Given the description of an element on the screen output the (x, y) to click on. 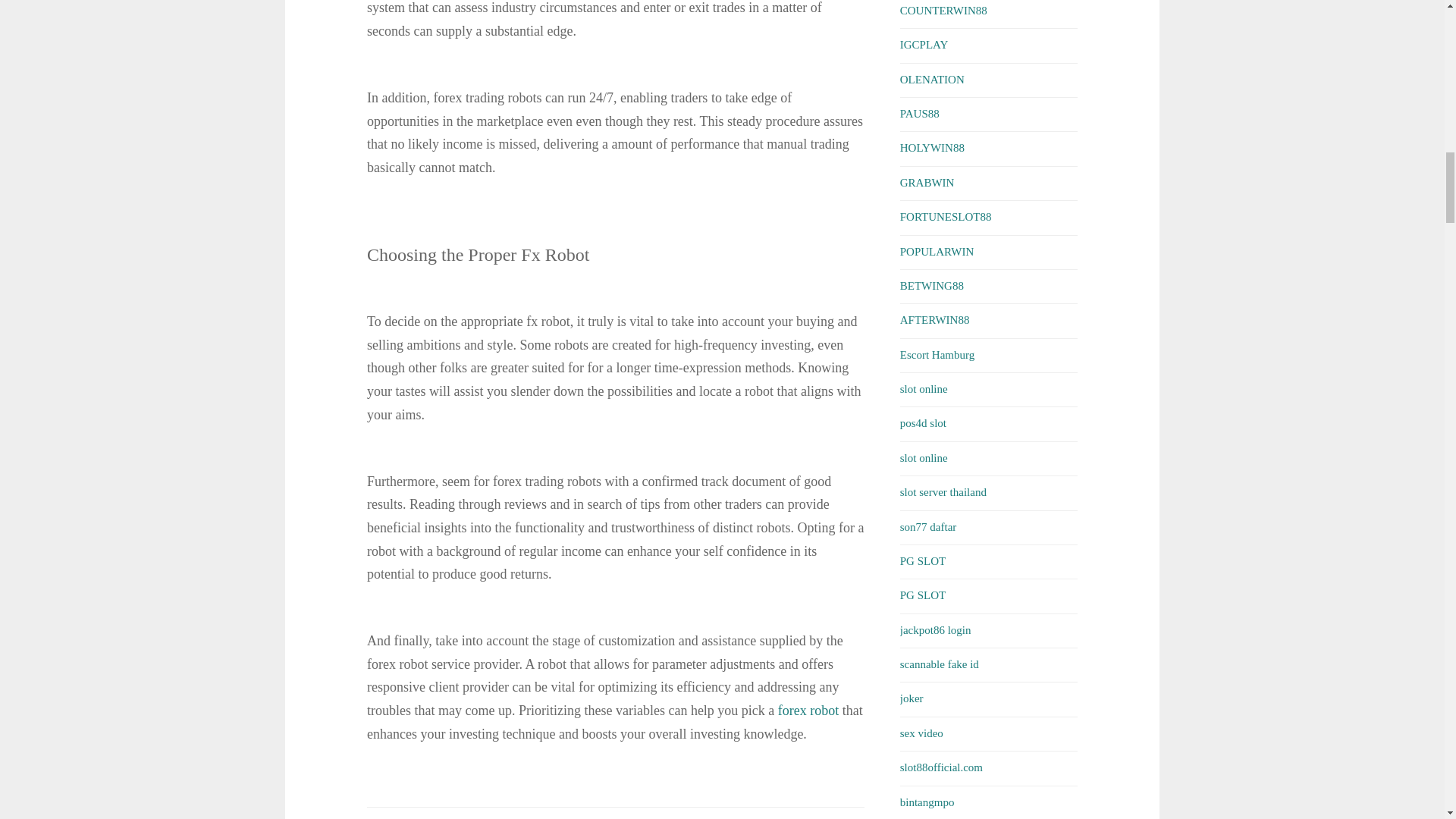
forex robot (807, 710)
